Given the description of an element on the screen output the (x, y) to click on. 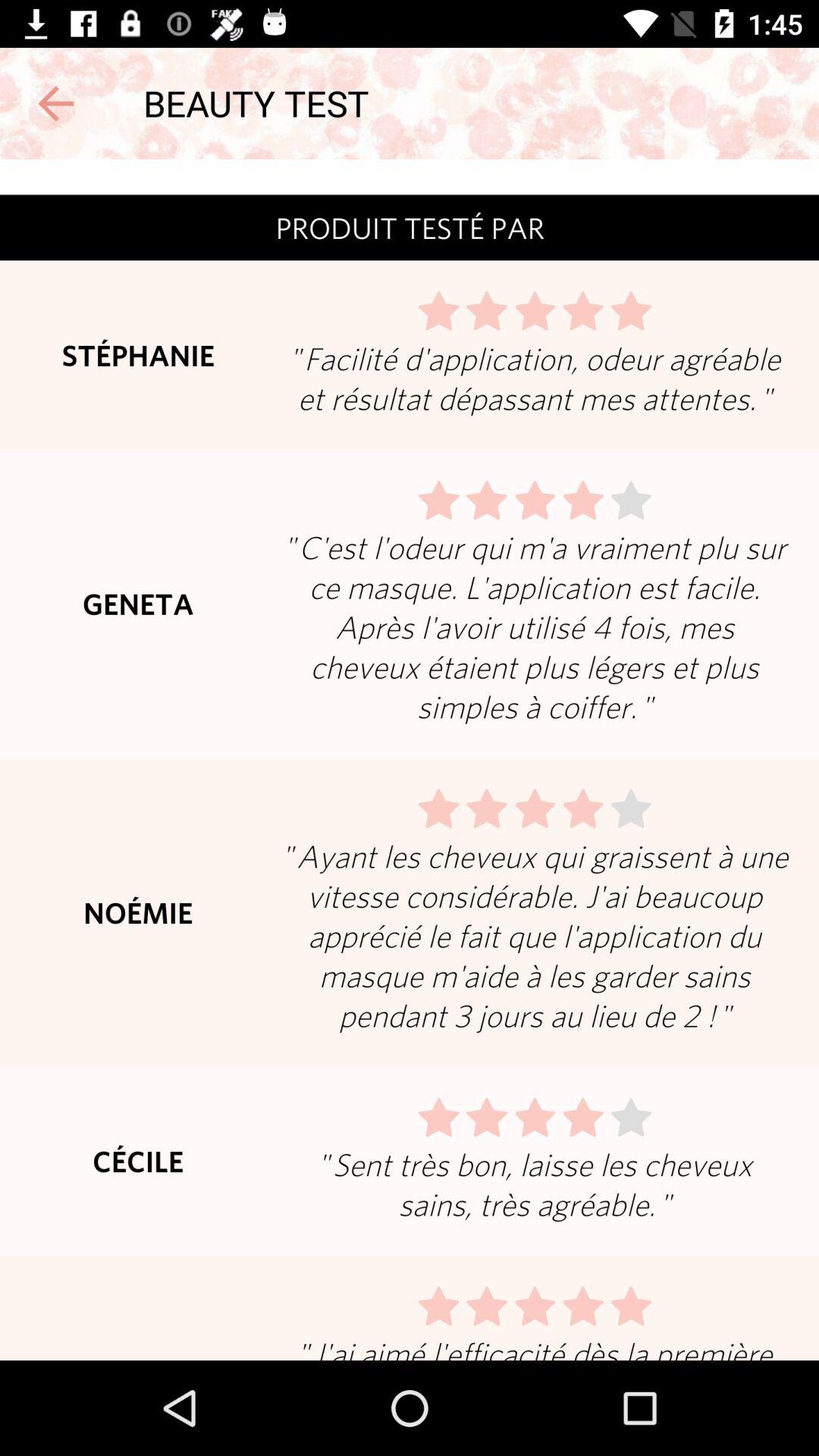
goes back (55, 103)
